Given the description of an element on the screen output the (x, y) to click on. 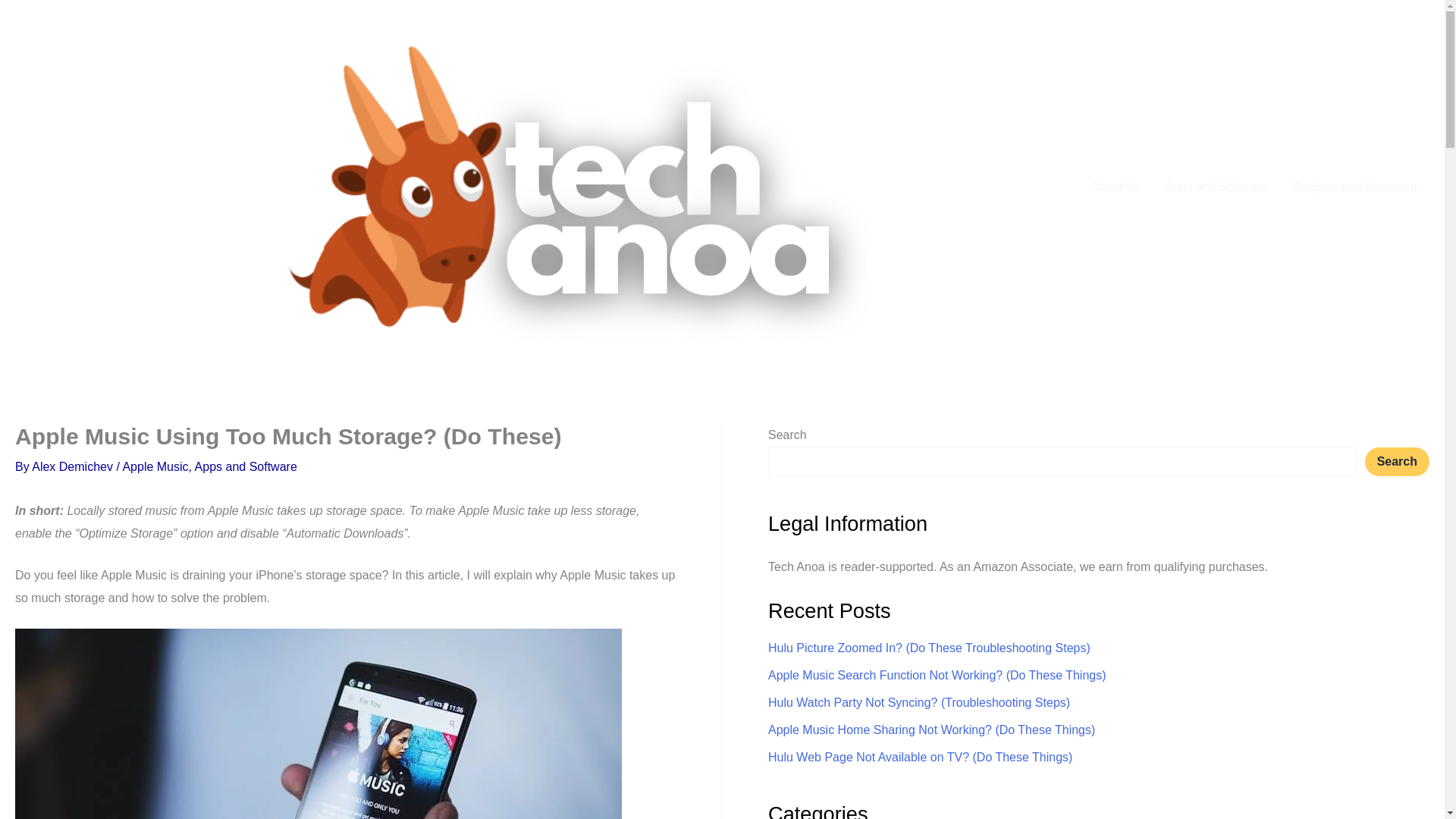
View all posts by Alex Demichev (74, 466)
Search (1397, 461)
About Us (1115, 187)
Apps and Software (246, 466)
Alex Demichev (74, 466)
Gadgets and Hardware (1354, 187)
Apple Music (154, 466)
Apps and Software (1216, 187)
